Given the description of an element on the screen output the (x, y) to click on. 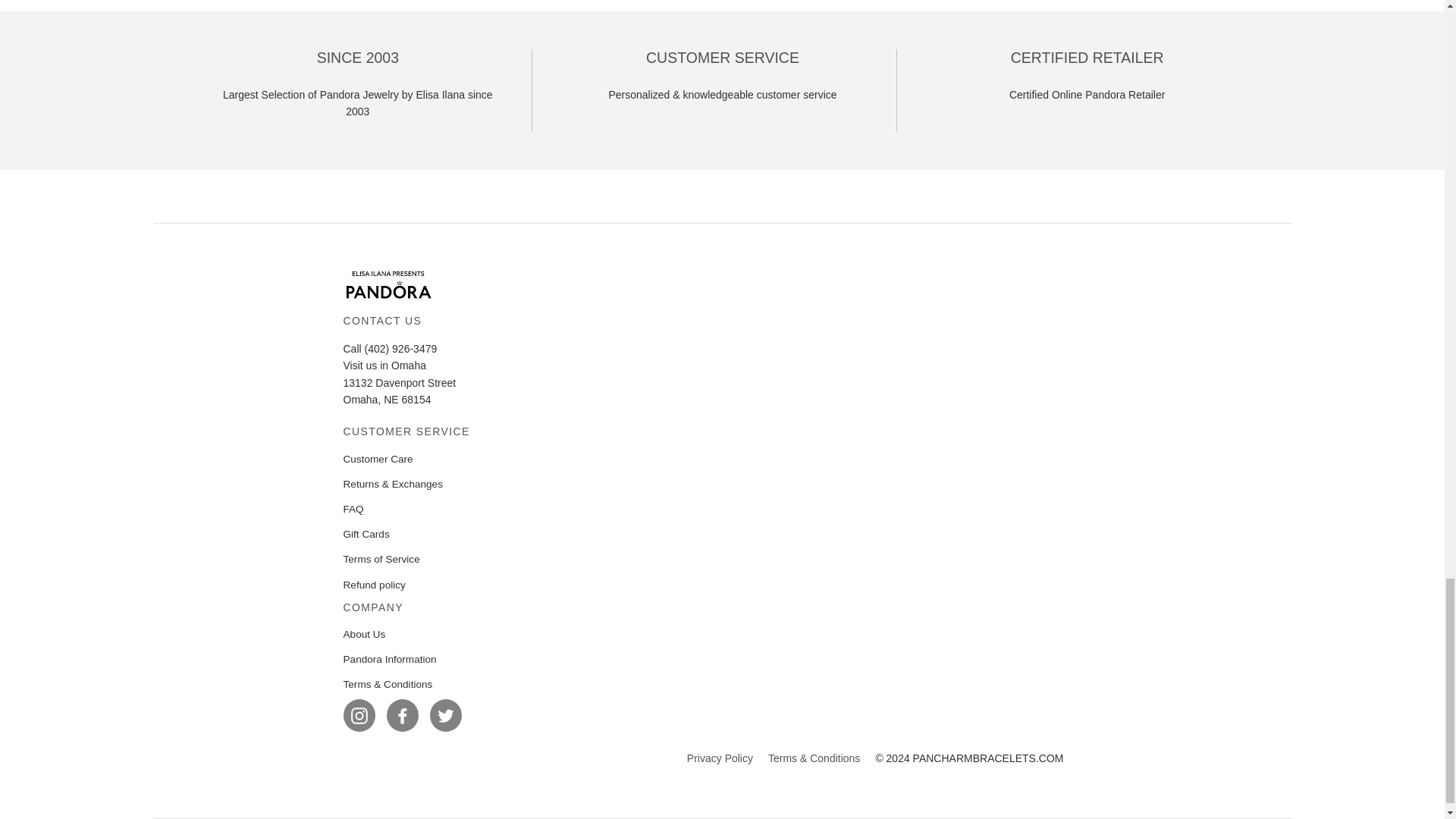
Pancharmbracelets on Twitter (445, 714)
Pancharmbracelets on Instagram (358, 714)
Pancharmbracelets on Facebook (403, 714)
